Given the description of an element on the screen output the (x, y) to click on. 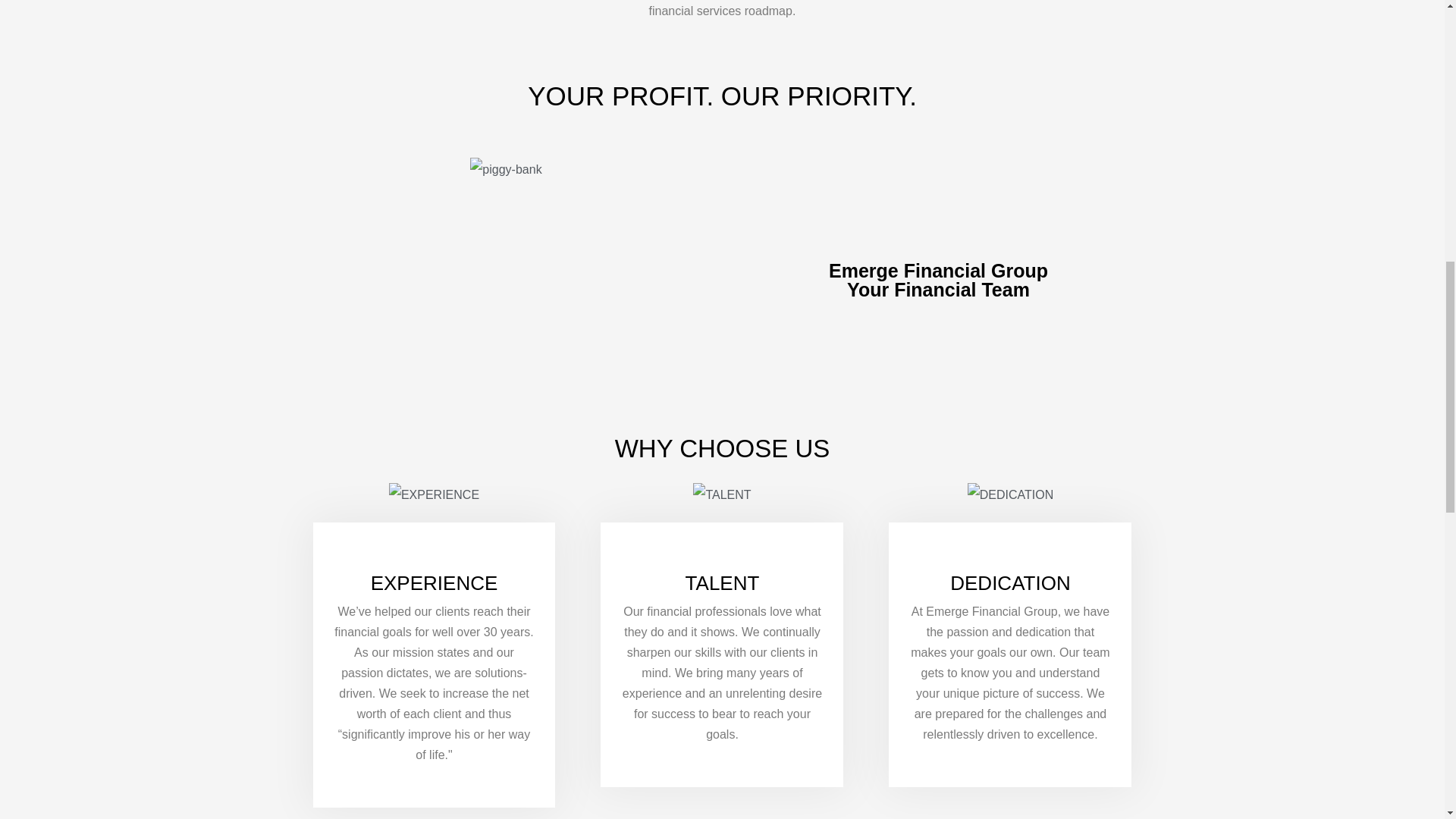
piggy-bank (505, 169)
